Given the description of an element on the screen output the (x, y) to click on. 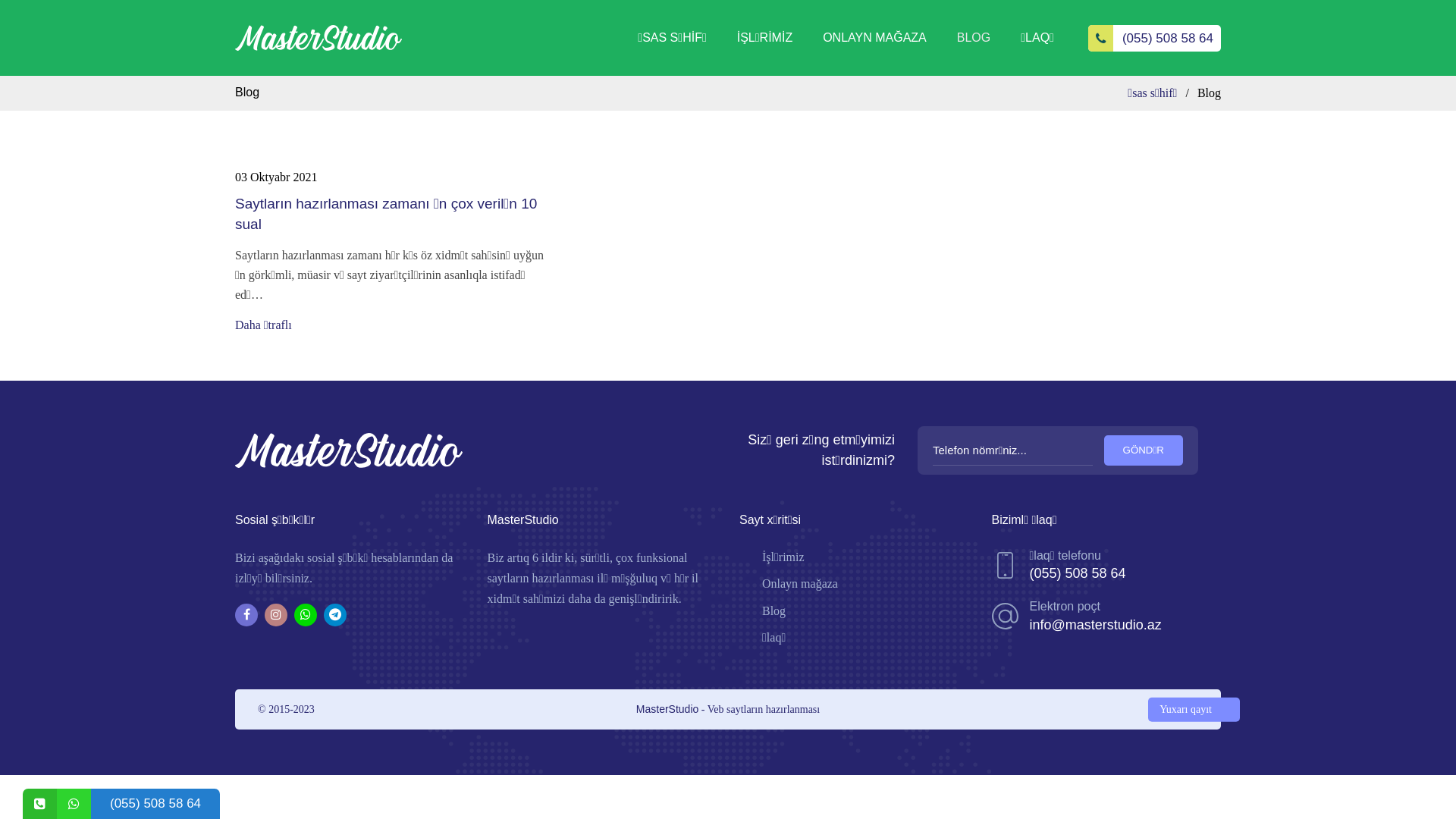
(055) 508 58 64 Element type: text (1154, 37)
(055) 508 58 64 Element type: text (1077, 572)
Blog Element type: text (773, 610)
BLOG Element type: text (973, 37)
info@masterstudio.az Element type: text (1095, 624)
